Given the description of an element on the screen output the (x, y) to click on. 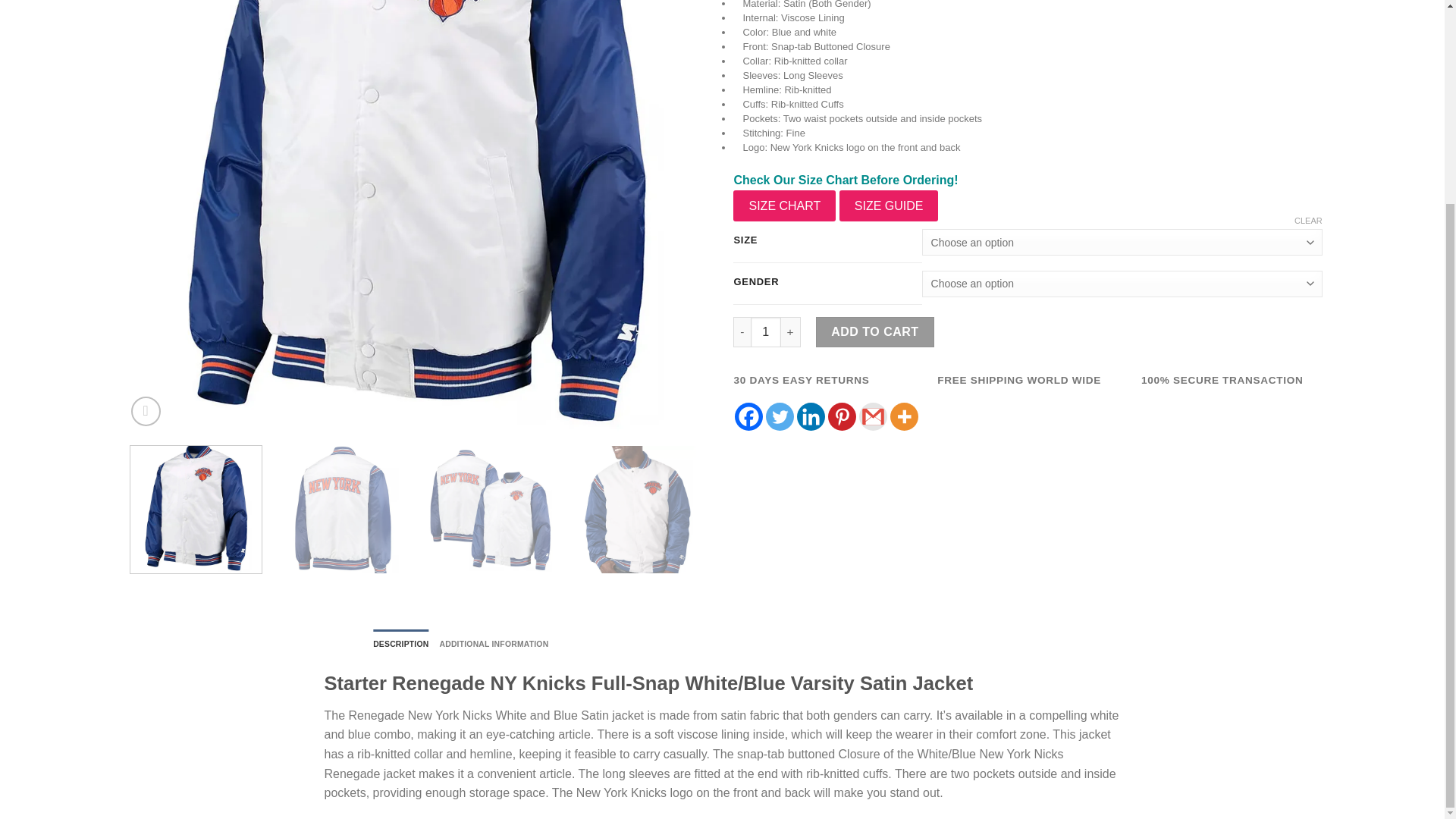
1 (765, 331)
